Given the description of an element on the screen output the (x, y) to click on. 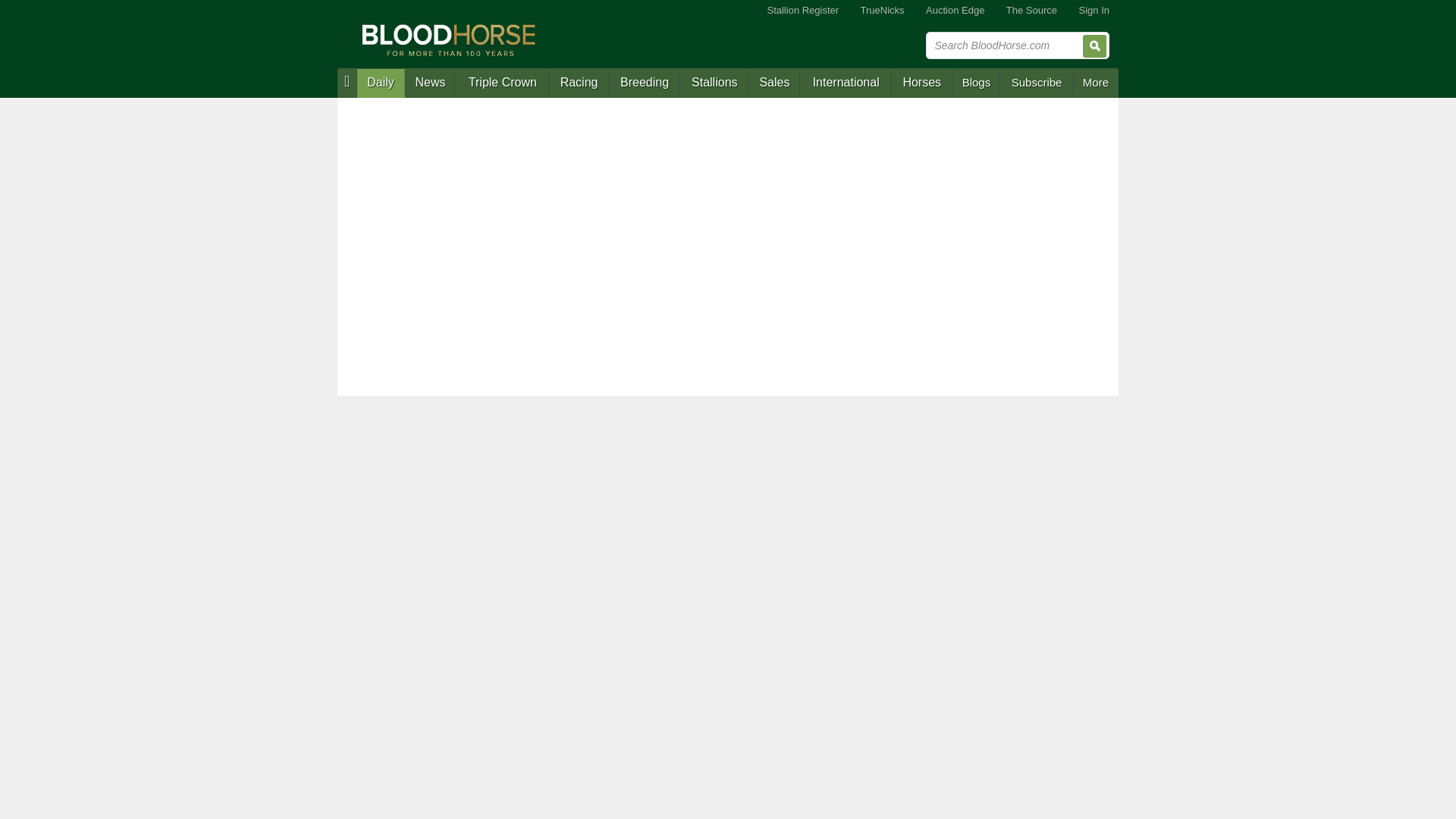
Blogs (976, 82)
Stallion Register (802, 10)
Thoroughbred News (430, 82)
Breeding (643, 82)
Horses (921, 82)
Racing (578, 82)
Thoroughbred Racing (578, 82)
International (845, 82)
Thoroughbred Breeding (643, 82)
Stallions (713, 82)
